Given the description of an element on the screen output the (x, y) to click on. 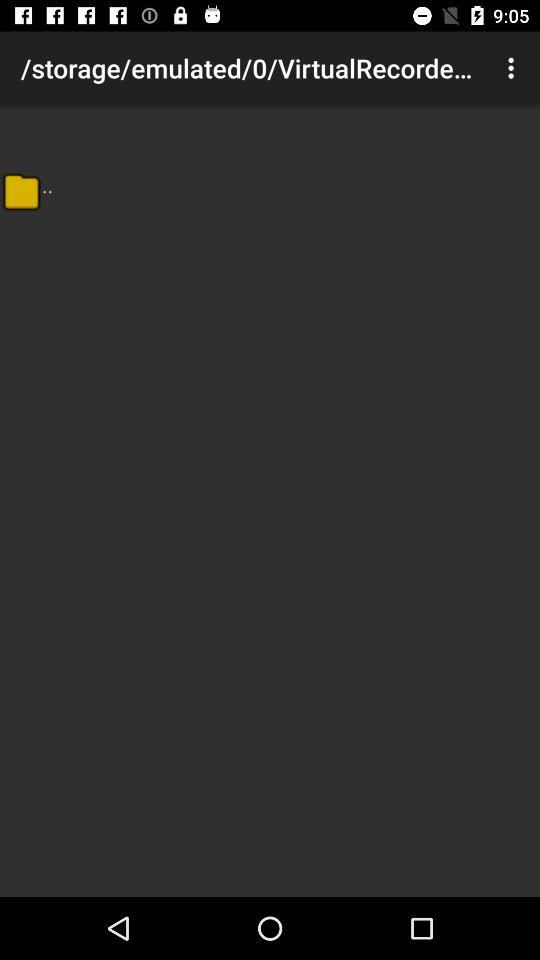
swipe to the .. item (47, 184)
